Given the description of an element on the screen output the (x, y) to click on. 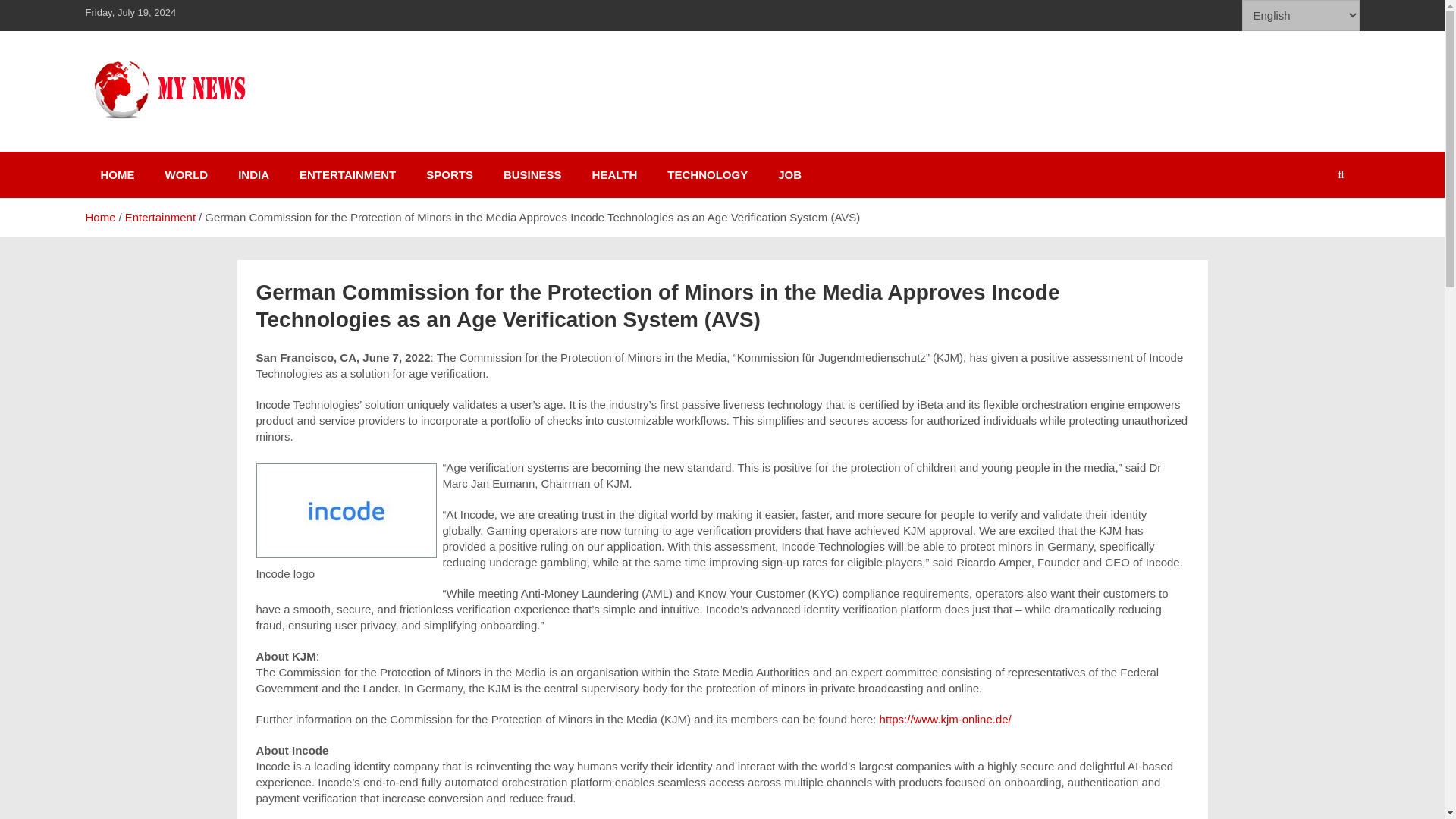
Entertainment (160, 216)
JOB (789, 174)
Home (99, 216)
HEALTH (614, 174)
BUSINESS (531, 174)
TECHNOLOGY (707, 174)
WORLD (186, 174)
SPORTS (448, 174)
Incode logo (346, 510)
HOME (116, 174)
INDIA (252, 174)
ENTERTAINMENT (346, 174)
